Given the description of an element on the screen output the (x, y) to click on. 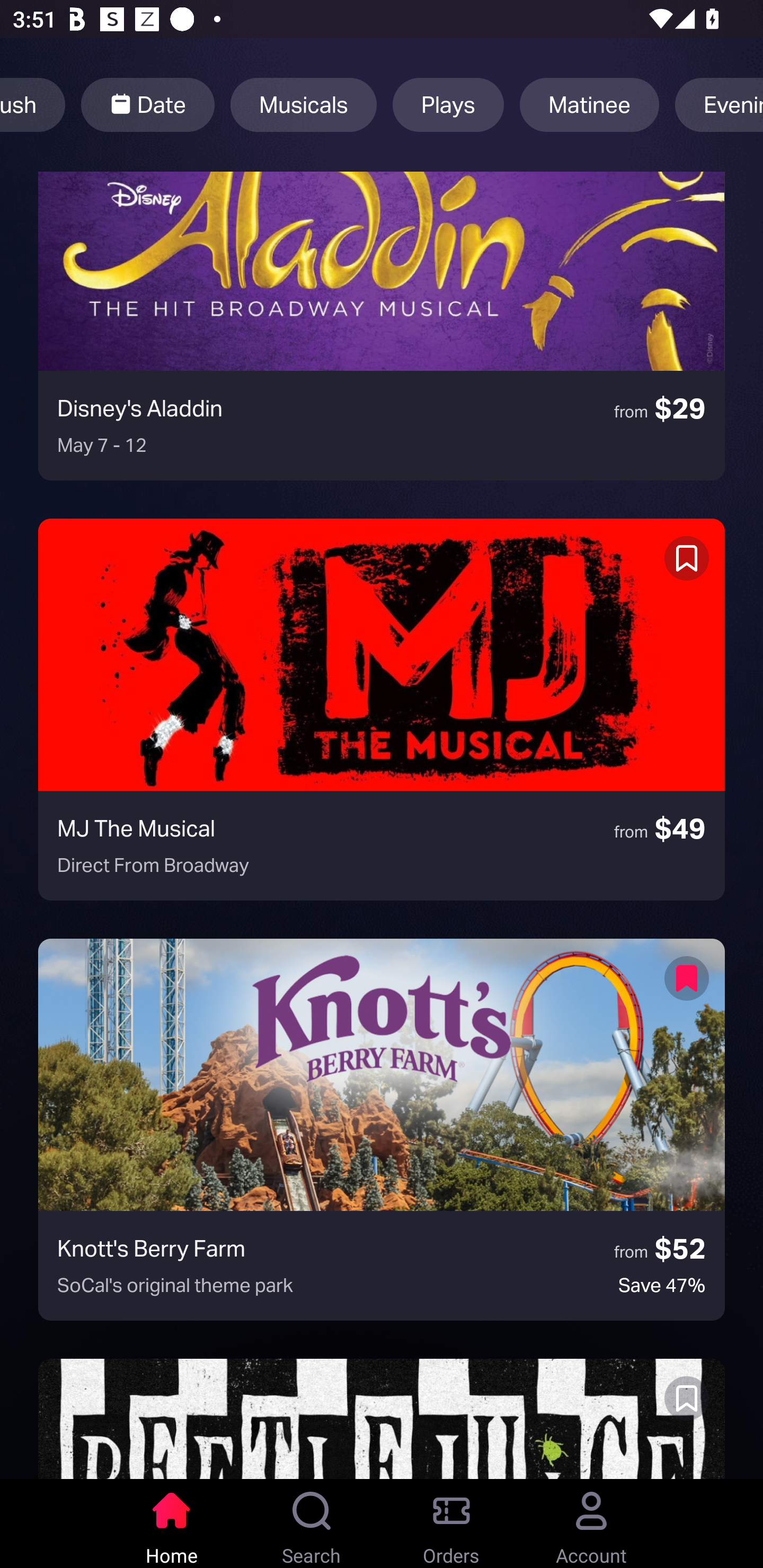
Date (147, 104)
Musicals (303, 104)
Plays (447, 104)
Matinee (589, 104)
Disney's Aladdin from $29 May 7 - 12 (381, 324)
MJ The Musical from $49 Direct From Broadway (381, 709)
Search (311, 1523)
Orders (451, 1523)
Account (591, 1523)
